Given the description of an element on the screen output the (x, y) to click on. 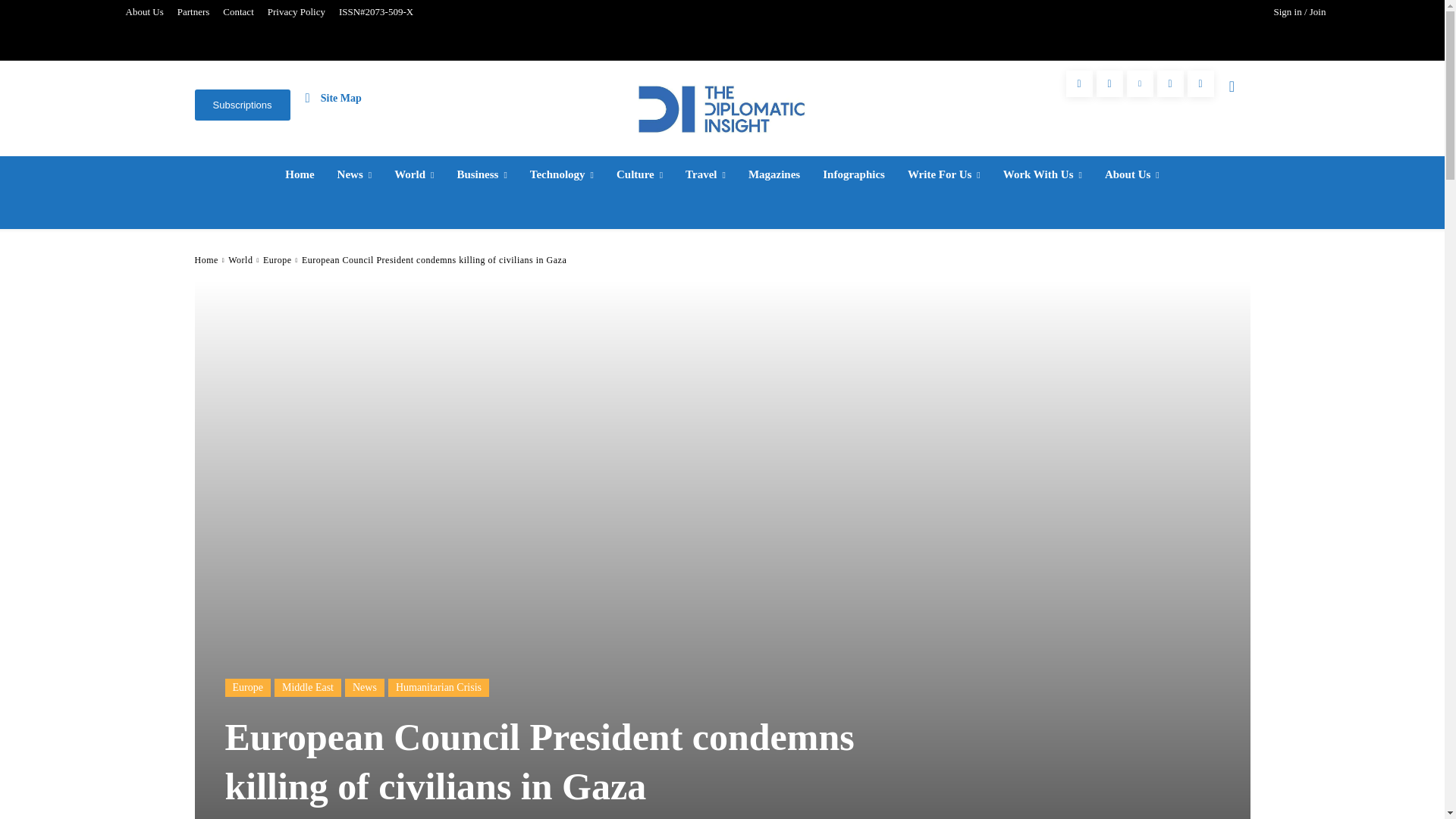
Youtube (1201, 82)
Twitter (1170, 82)
View all posts in World (239, 259)
Instagram (1109, 82)
Linkedin (1139, 82)
Subscriptions (241, 104)
Site Map (333, 97)
Facebook (1079, 82)
View all posts in Europe (277, 259)
